Given the description of an element on the screen output the (x, y) to click on. 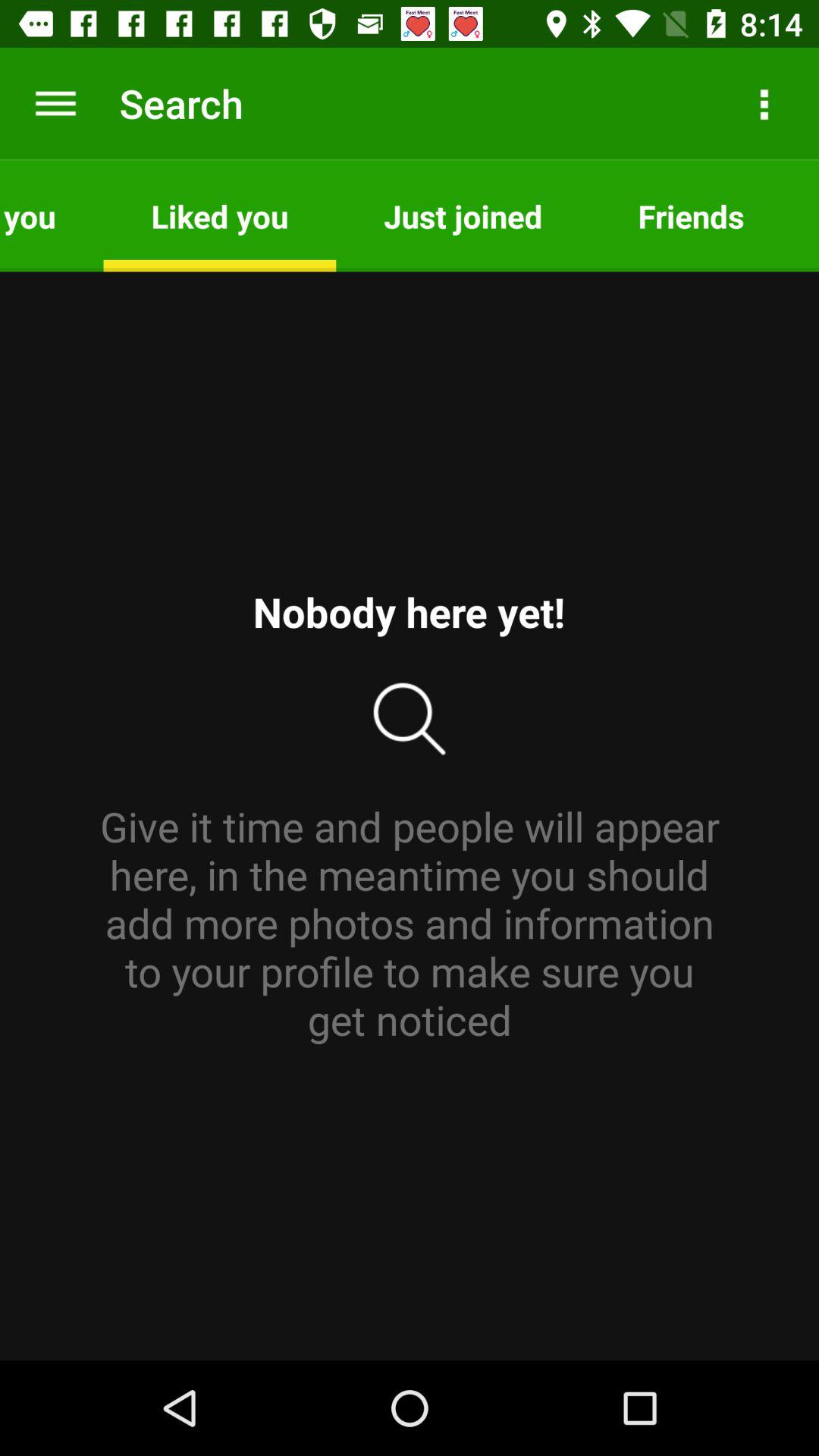
open the app next to friends item (805, 215)
